Given the description of an element on the screen output the (x, y) to click on. 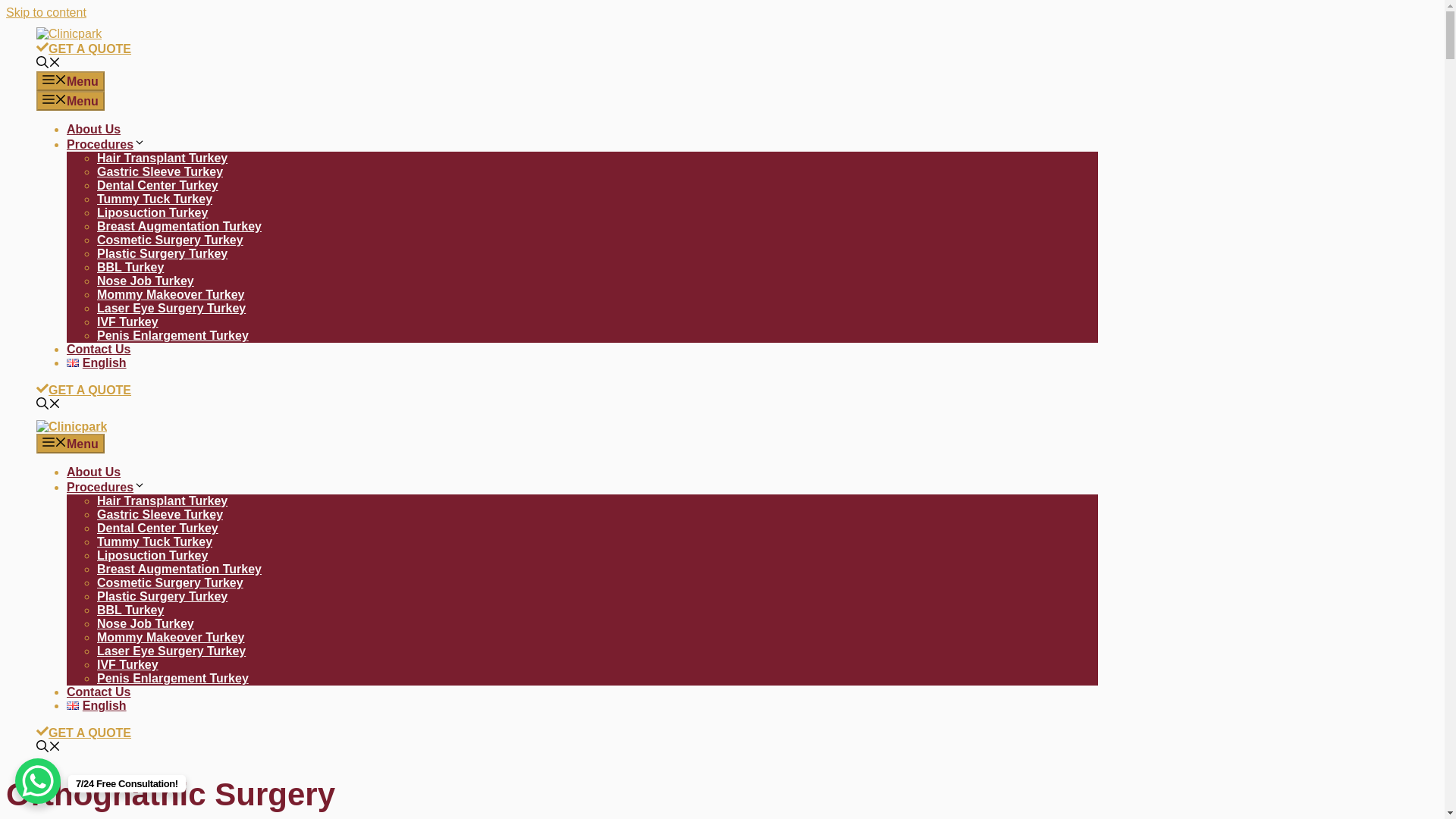
Breast Augmentation Turkey (179, 568)
Plastic Surgery Turkey (162, 253)
Liposuction Turkey (152, 554)
Mommy Makeover Turkey (170, 294)
Procedures (105, 486)
Hair Transplant Turkey (162, 500)
Dental Center Turkey (157, 185)
IVF Turkey (127, 321)
Clinicpark (71, 426)
Gastric Sleeve Turkey (159, 171)
Nose Job Turkey (145, 280)
GET A QUOTE (83, 390)
Cosmetic Surgery Turkey (170, 239)
Dental Center Turkey (157, 527)
Tummy Tuck Turkey (154, 541)
